Given the description of an element on the screen output the (x, y) to click on. 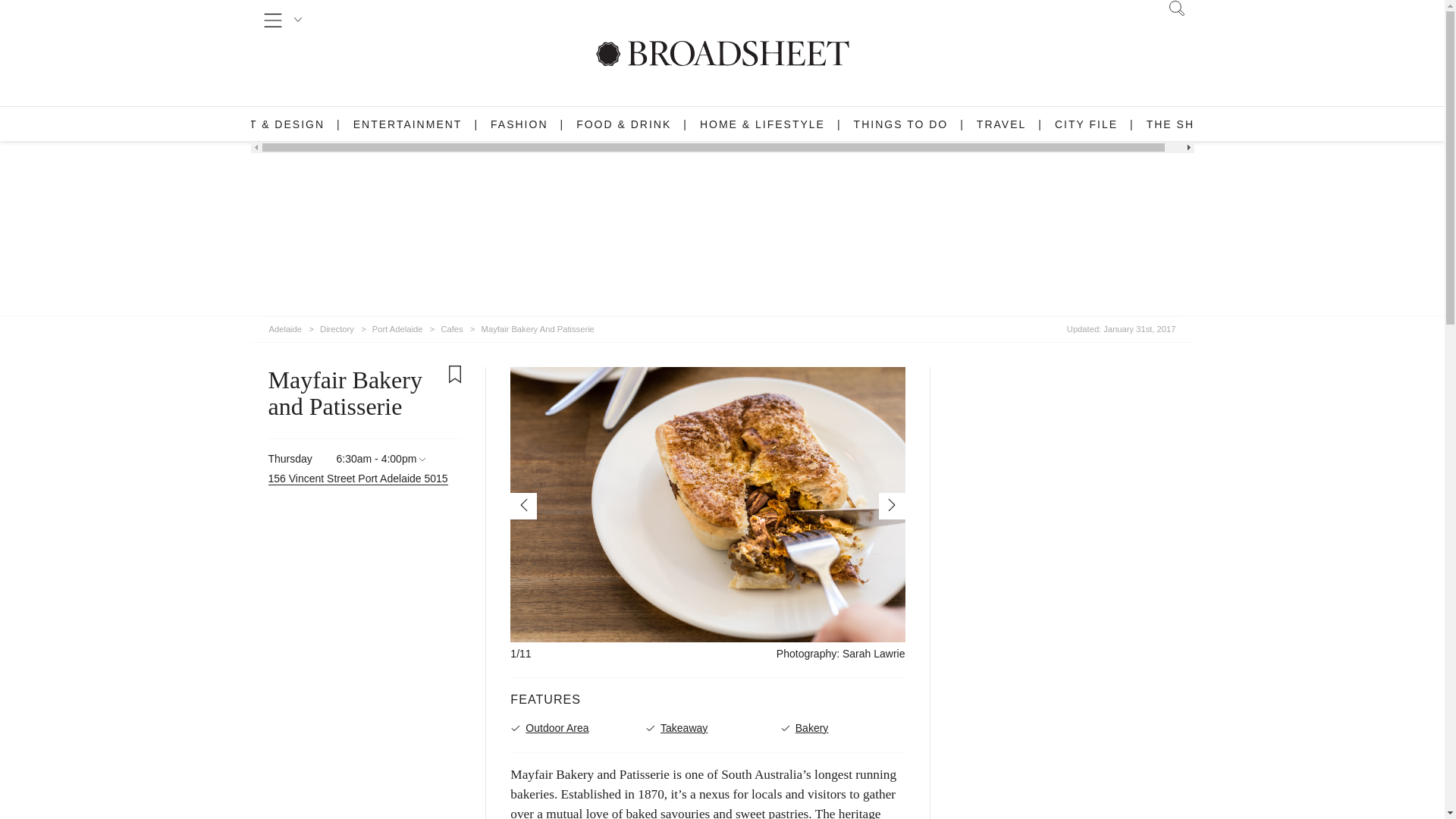
THE SHOP (1179, 124)
ENTERTAINMENT (408, 124)
FASHION (518, 124)
156 Vincent Street Port Adelaide 5015 (357, 478)
Port Adelaide (397, 326)
THINGS TO DO (901, 124)
Takeaway (708, 728)
Bakery (842, 728)
Adelaide (284, 326)
Cafes (452, 326)
